Given the description of an element on the screen output the (x, y) to click on. 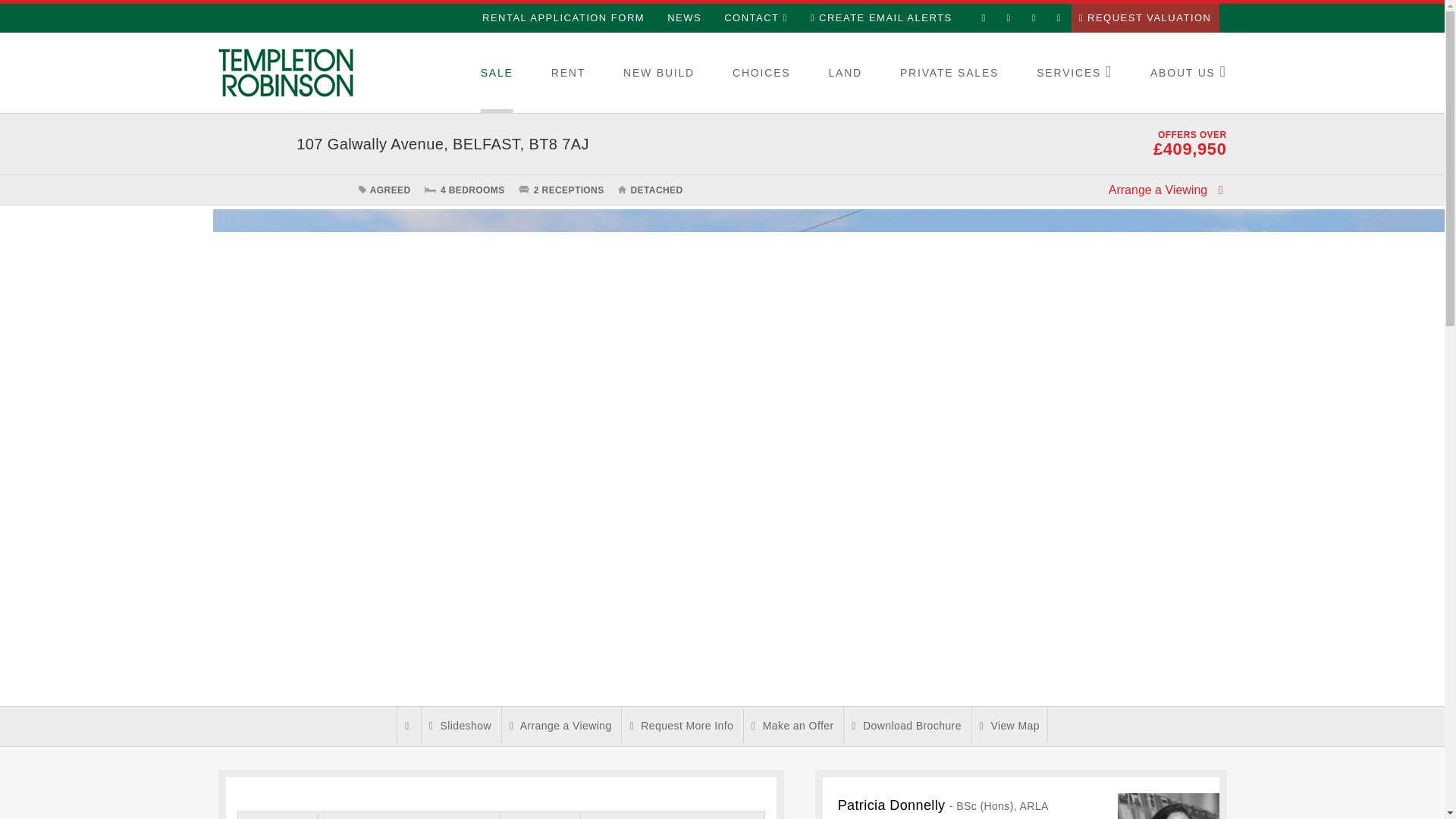
RENTAL APPLICATION FORM (563, 18)
PRIVATE SALES (948, 72)
REQUEST VALUATION (1145, 18)
ABOUT US (1188, 72)
CREATE EMAIL ALERTS (881, 18)
CONTACT (755, 18)
SERVICES (1074, 72)
NEWS (684, 18)
